Given the description of an element on the screen output the (x, y) to click on. 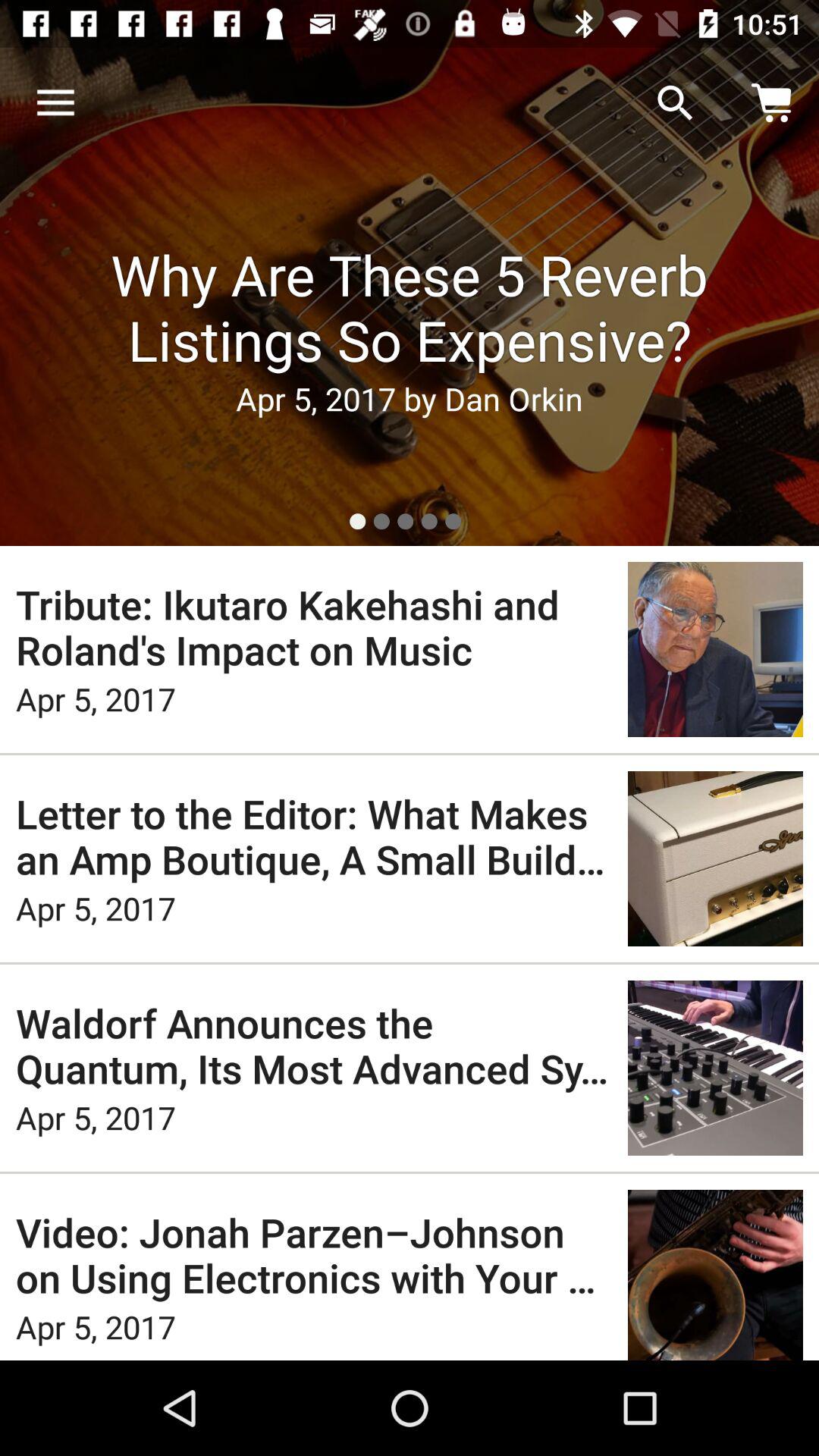
tap item to the right of the news item (675, 103)
